Given the description of an element on the screen output the (x, y) to click on. 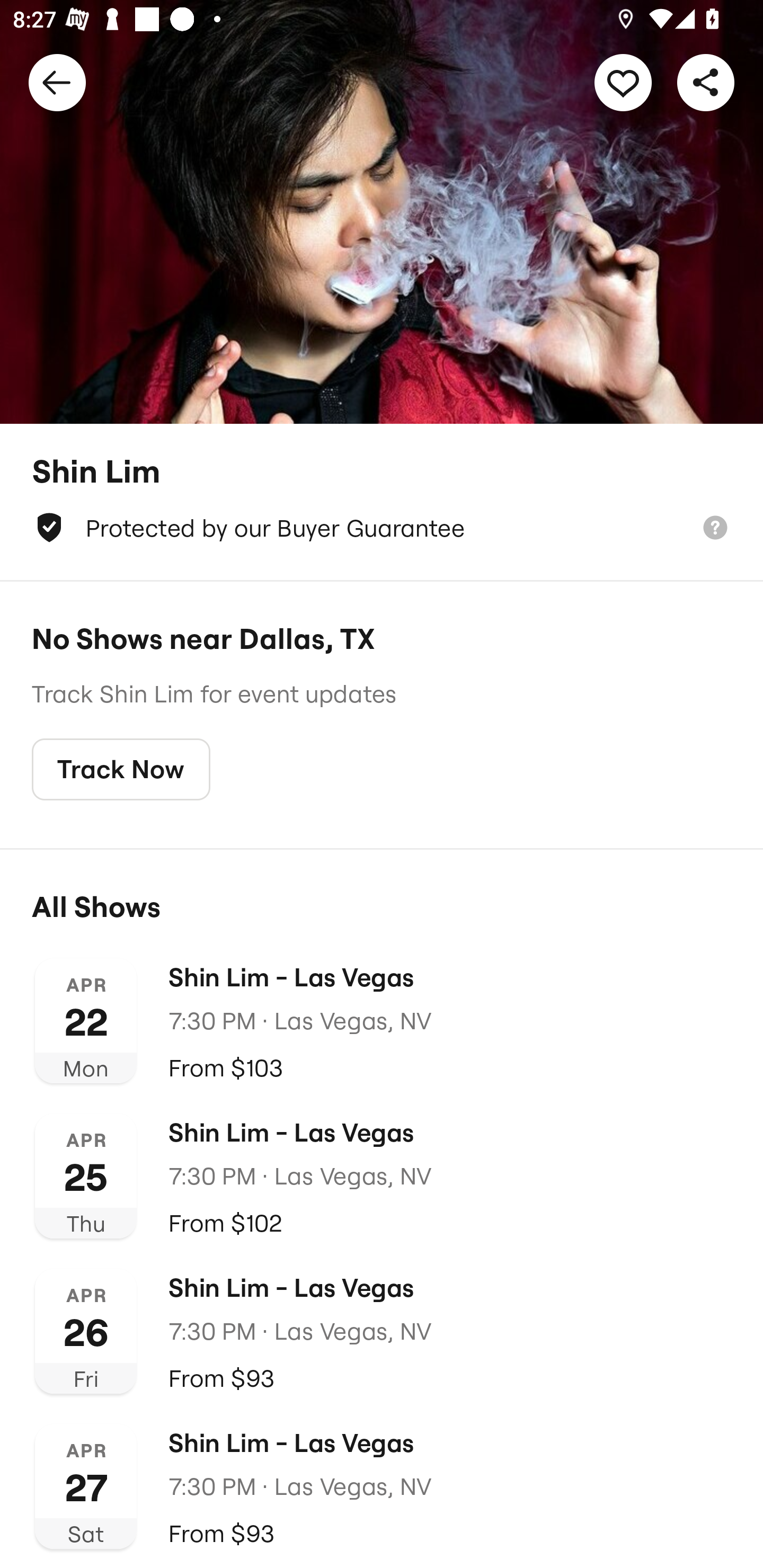
Back (57, 81)
Track this performer (623, 81)
Share this performer (705, 81)
Protected by our Buyer Guarantee Learn more (381, 527)
Track Now (121, 769)
